Given the description of an element on the screen output the (x, y) to click on. 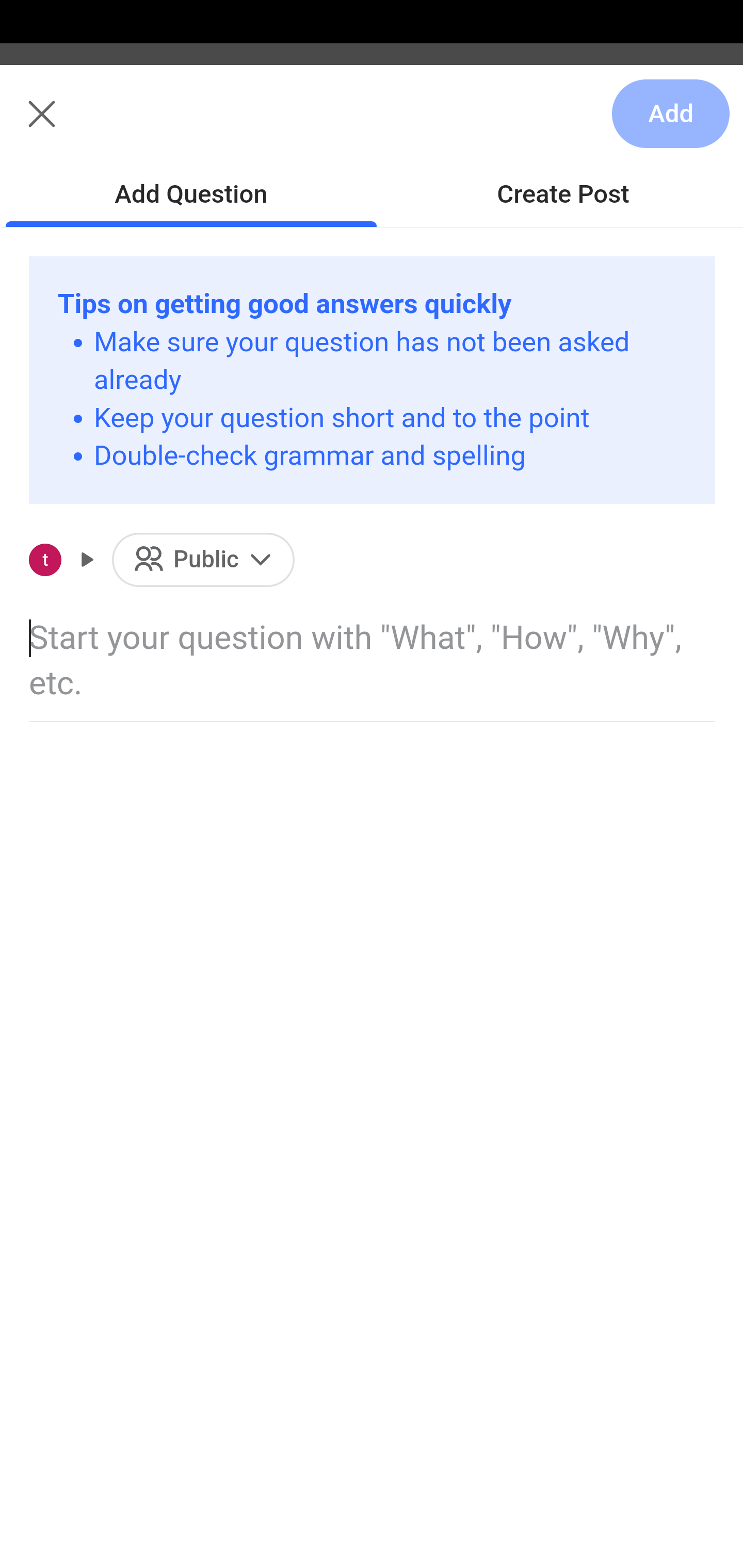
Me Home Search Add (371, 125)
Me (64, 125)
